Given the description of an element on the screen output the (x, y) to click on. 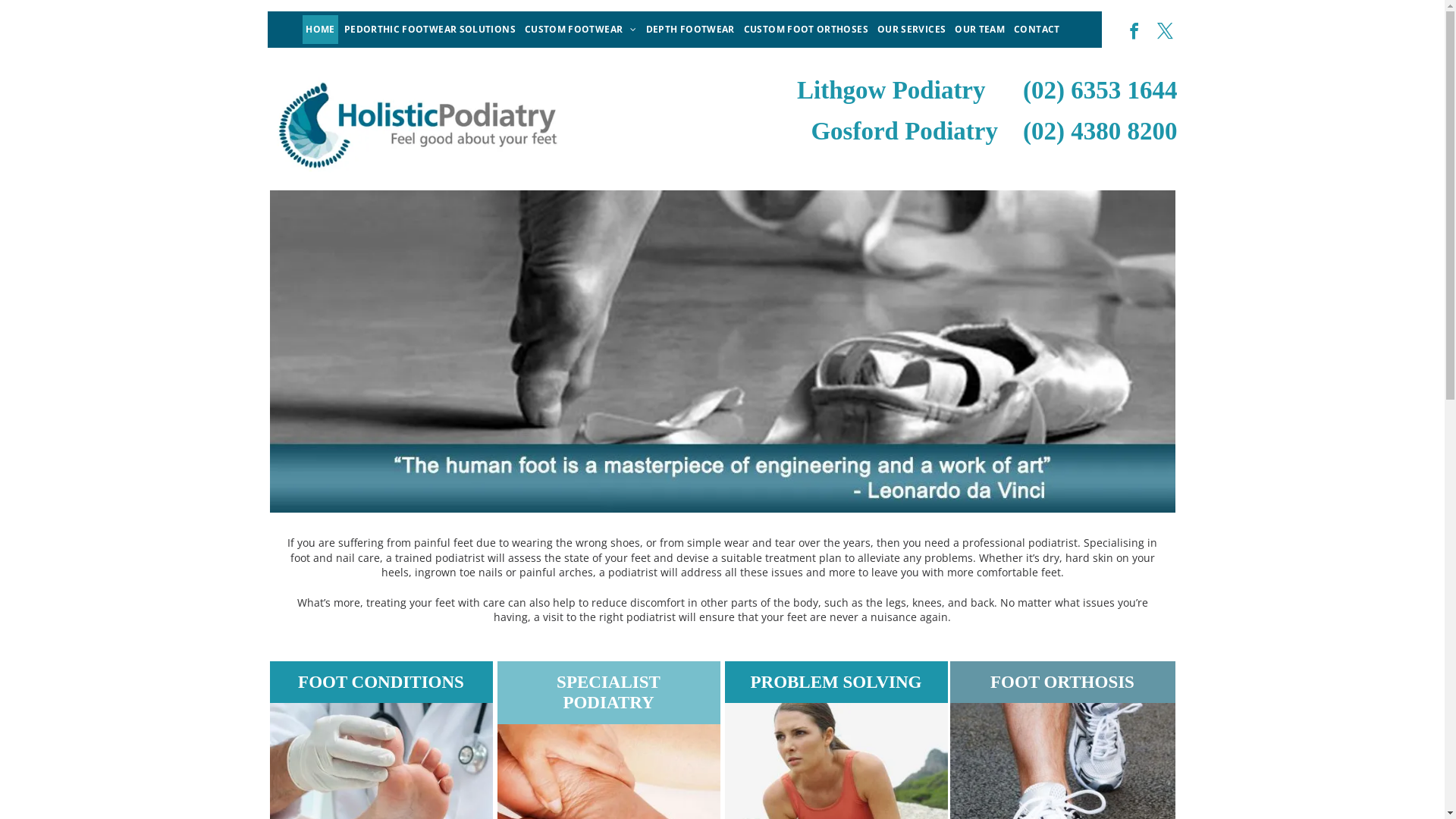
OUR TEAM Element type: text (979, 29)
4380 8200 Element type: text (1123, 130)
Lithgow Podiatry Element type: text (891, 89)
CUSTOM FOOTWEAR Element type: text (580, 29)
OUR SERVICES Element type: text (911, 29)
FOOT CONDITIONS Element type: text (381, 681)
HOME Element type: text (319, 29)
Gosford Podiatry Element type: text (903, 130)
FOOT ORTHOSIS Element type: text (1062, 681)
(02) 6353 1644 Element type: text (1099, 89)
PEDORTHIC FOOTWEAR SOLUTIONS Element type: text (429, 29)
CUSTOM FOOT ORTHOSES Element type: text (805, 29)
CONTACT Element type: text (1036, 29)
    Element type: text (1006, 130)
DEPTH FOOTWEAR Element type: text (690, 29)
